Given the description of an element on the screen output the (x, y) to click on. 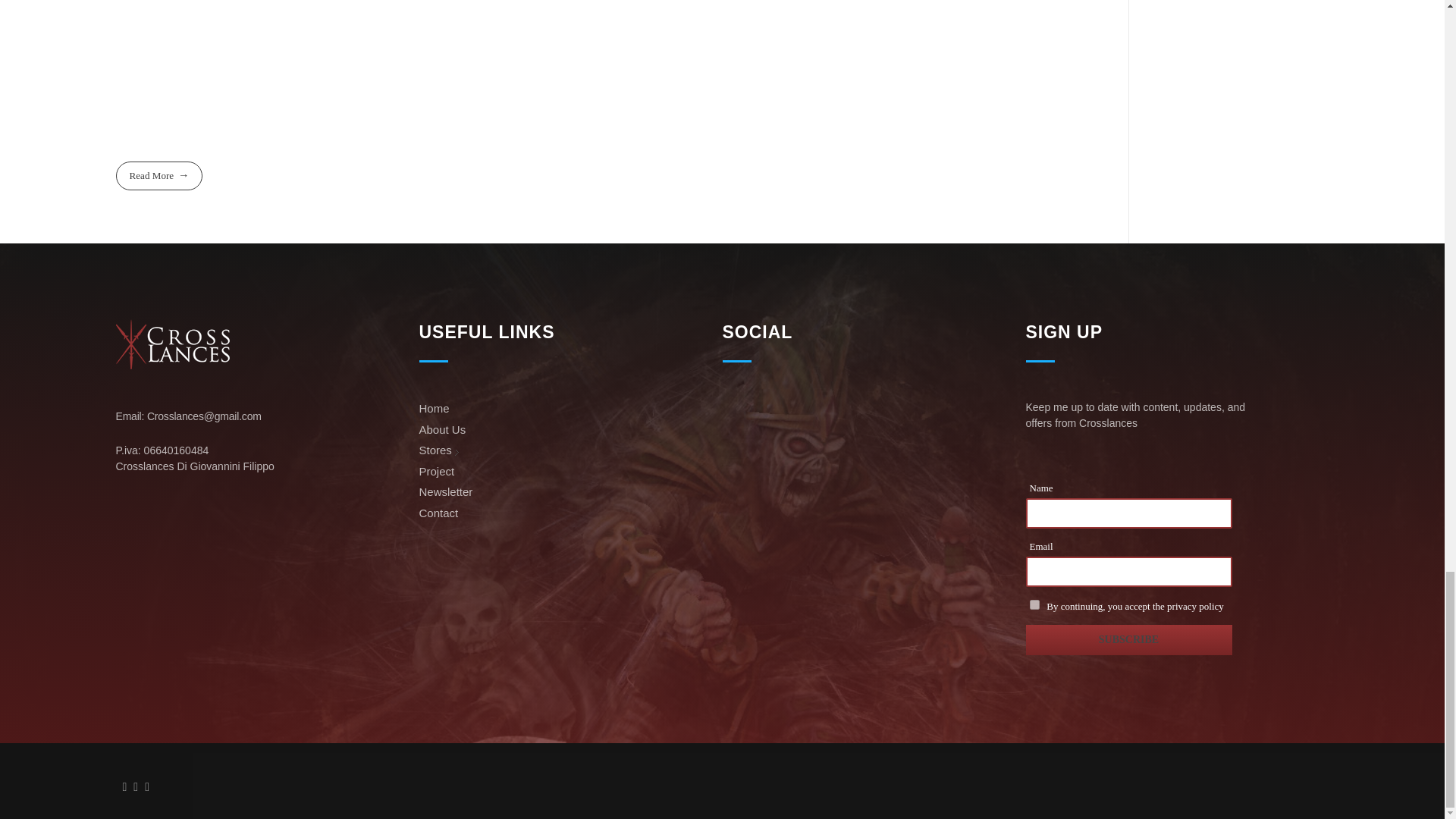
on (1034, 604)
Subscribe (1128, 639)
Crosslances (171, 344)
Crosslances (169, 377)
Read More (158, 175)
